Given the description of an element on the screen output the (x, y) to click on. 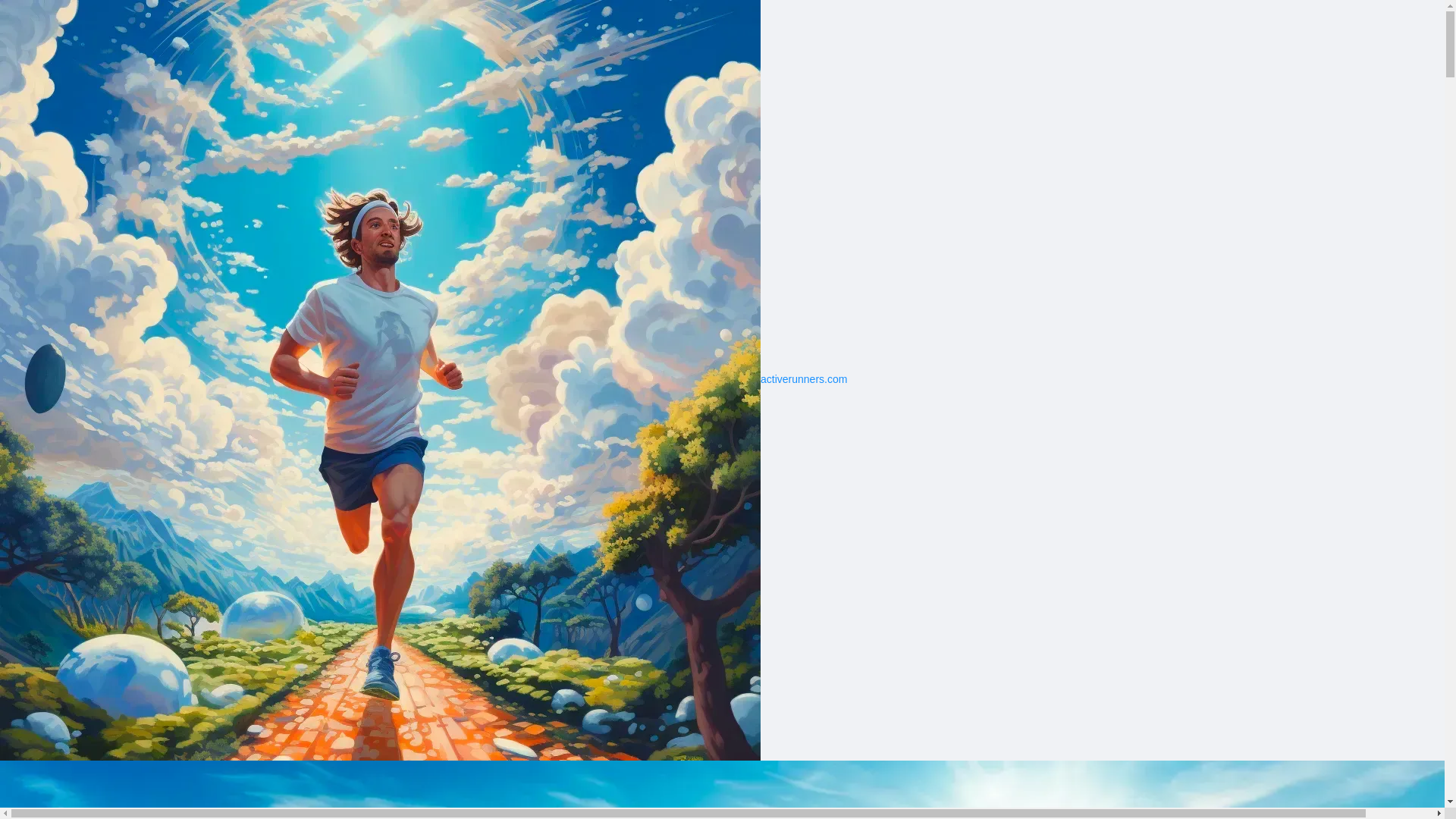
activerunners.com (423, 378)
activerunners.com (423, 378)
